Given the description of an element on the screen output the (x, y) to click on. 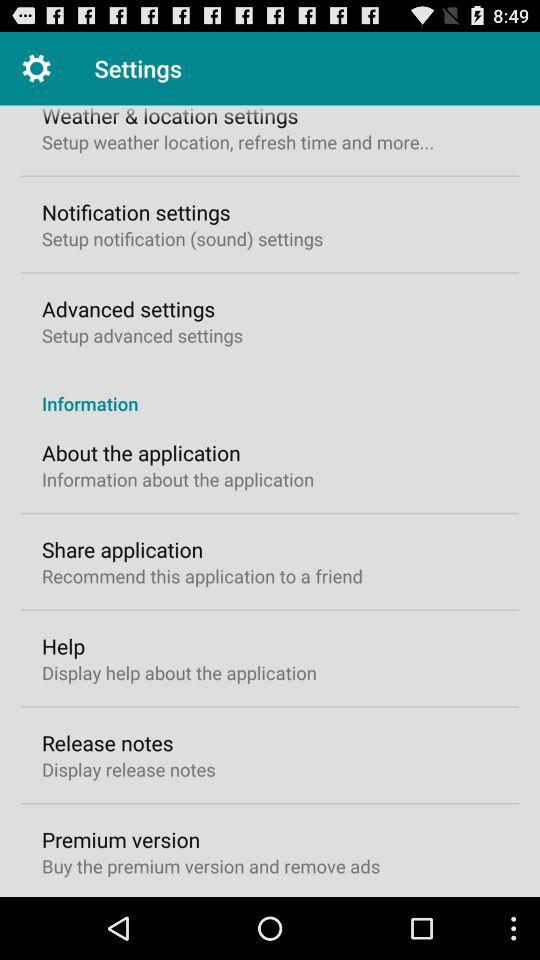
choose the buy the premium item (211, 865)
